Given the description of an element on the screen output the (x, y) to click on. 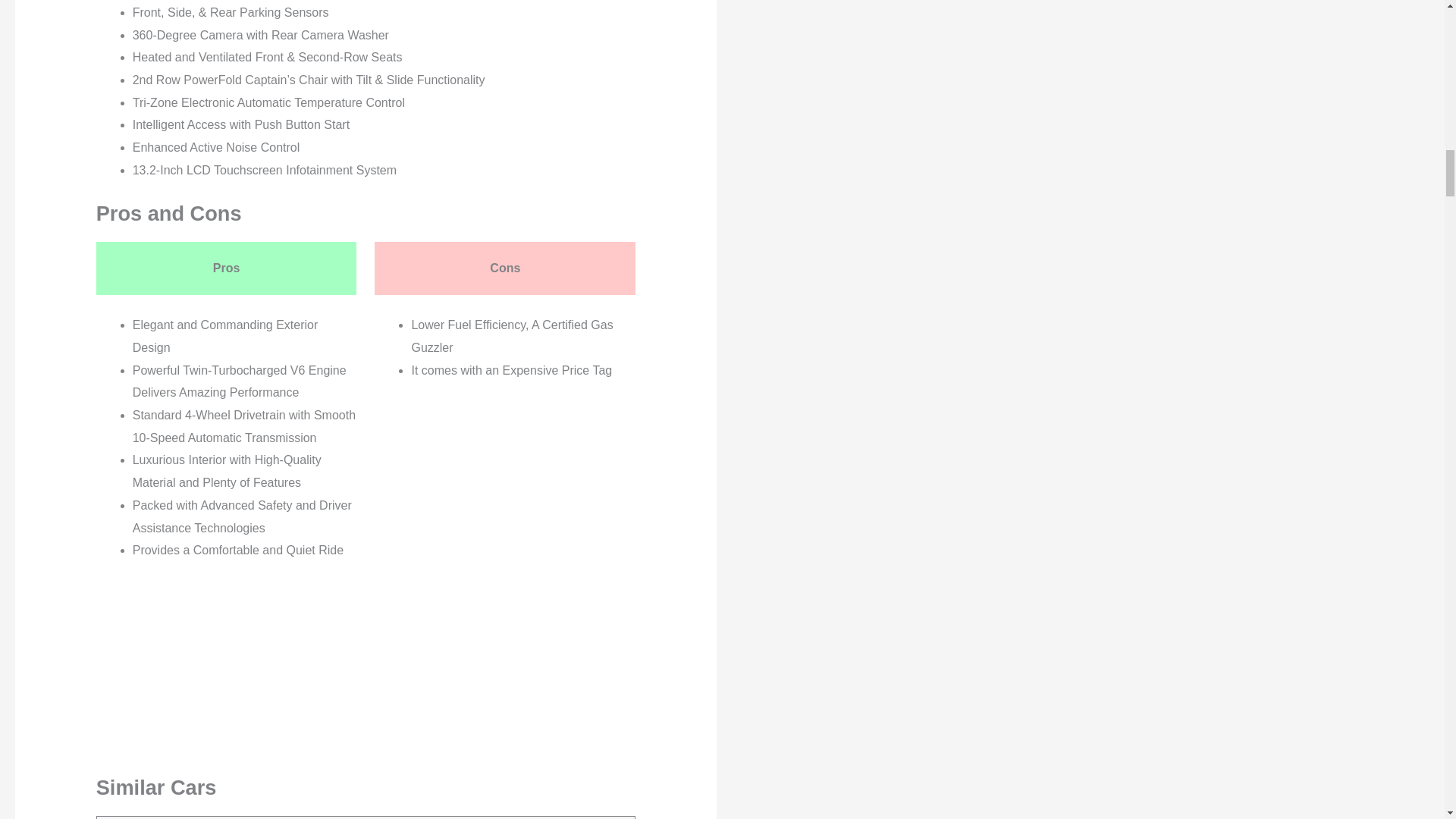
Advertisement (323, 667)
